Given the description of an element on the screen output the (x, y) to click on. 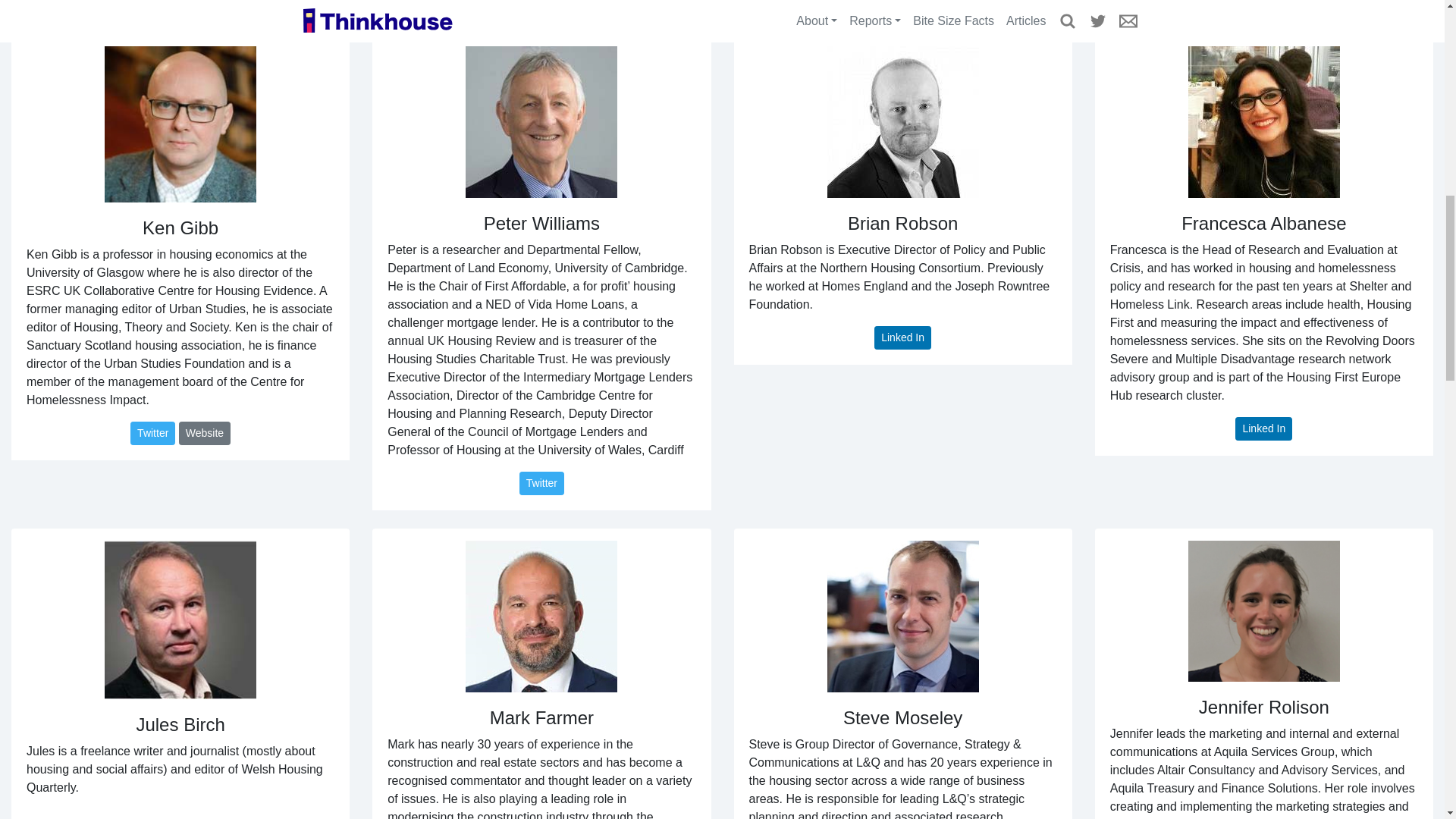
Linked In (1263, 0)
Website (204, 433)
Linked In (903, 337)
Twitter (541, 483)
Linked In (1263, 428)
Twitter (152, 433)
